Given the description of an element on the screen output the (x, y) to click on. 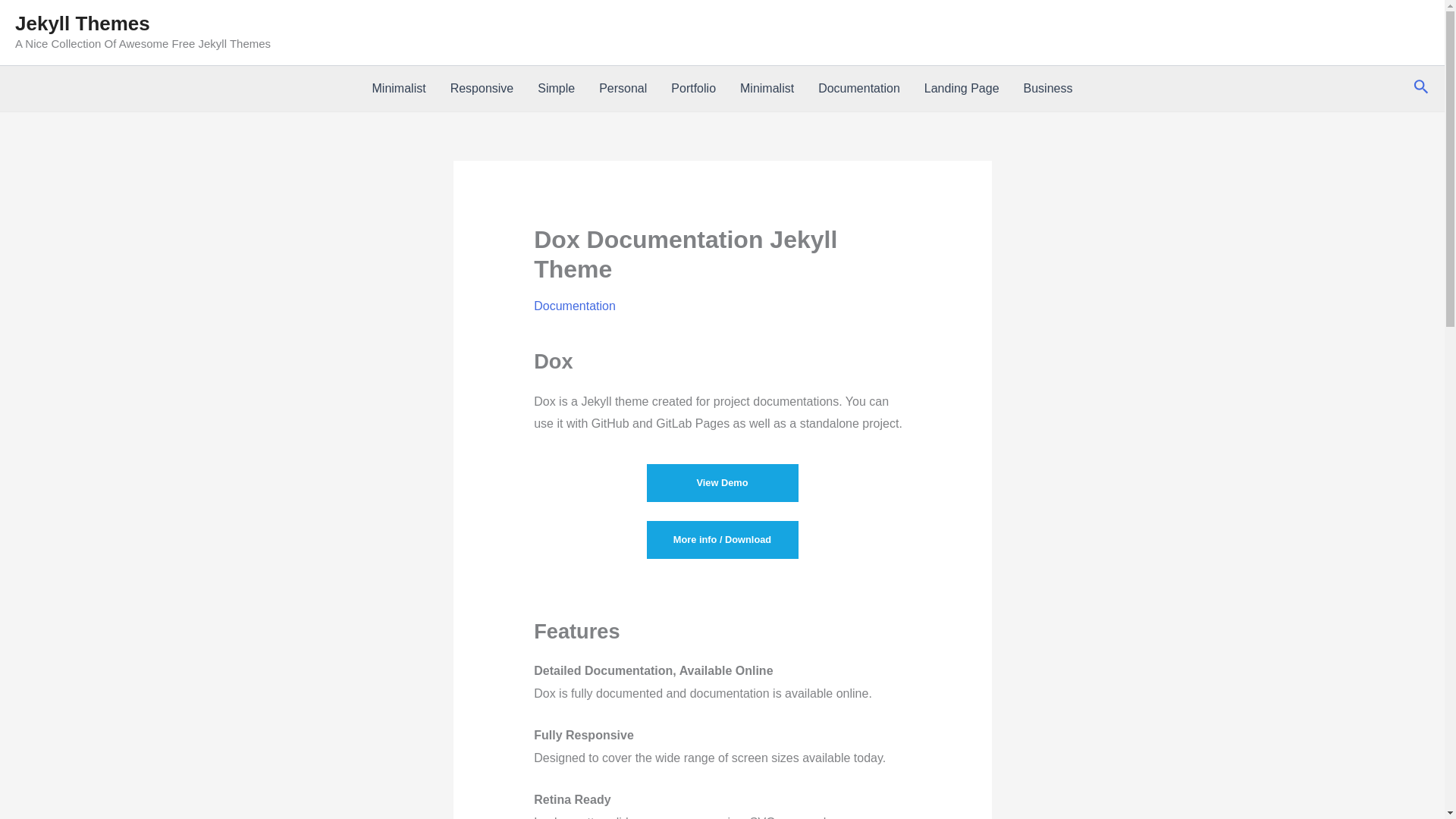
Jekyll Themes (81, 23)
Minimalist (398, 88)
Documentation (574, 305)
Personal (622, 88)
Portfolio (693, 88)
Responsive (481, 88)
Documentation (859, 88)
Landing Page (961, 88)
Business (1047, 88)
Minimalist (767, 88)
